Given the description of an element on the screen output the (x, y) to click on. 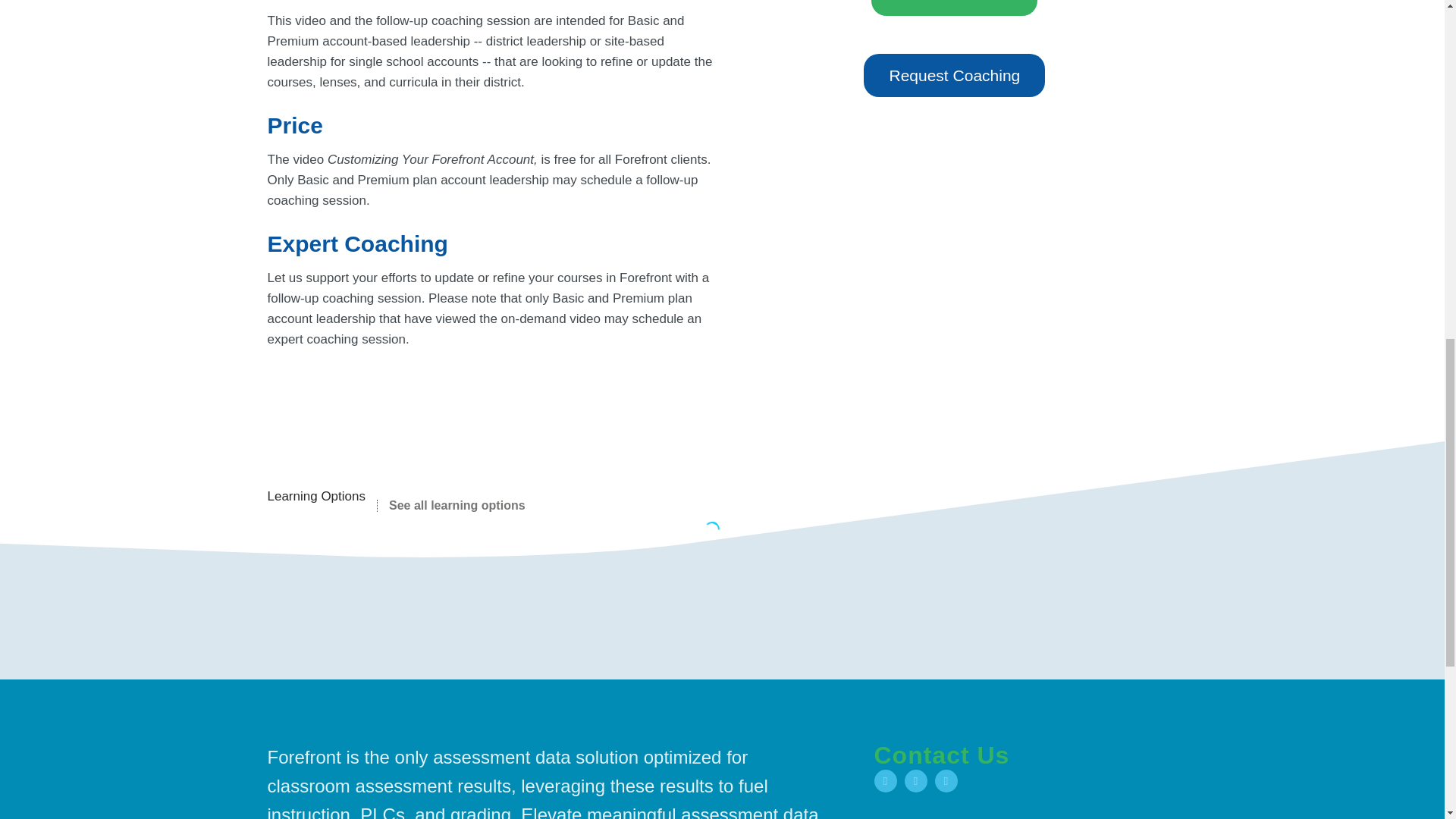
Watch the Video (953, 7)
See all learning options (451, 505)
Request Coaching (954, 75)
Contact Us (941, 755)
